Given the description of an element on the screen output the (x, y) to click on. 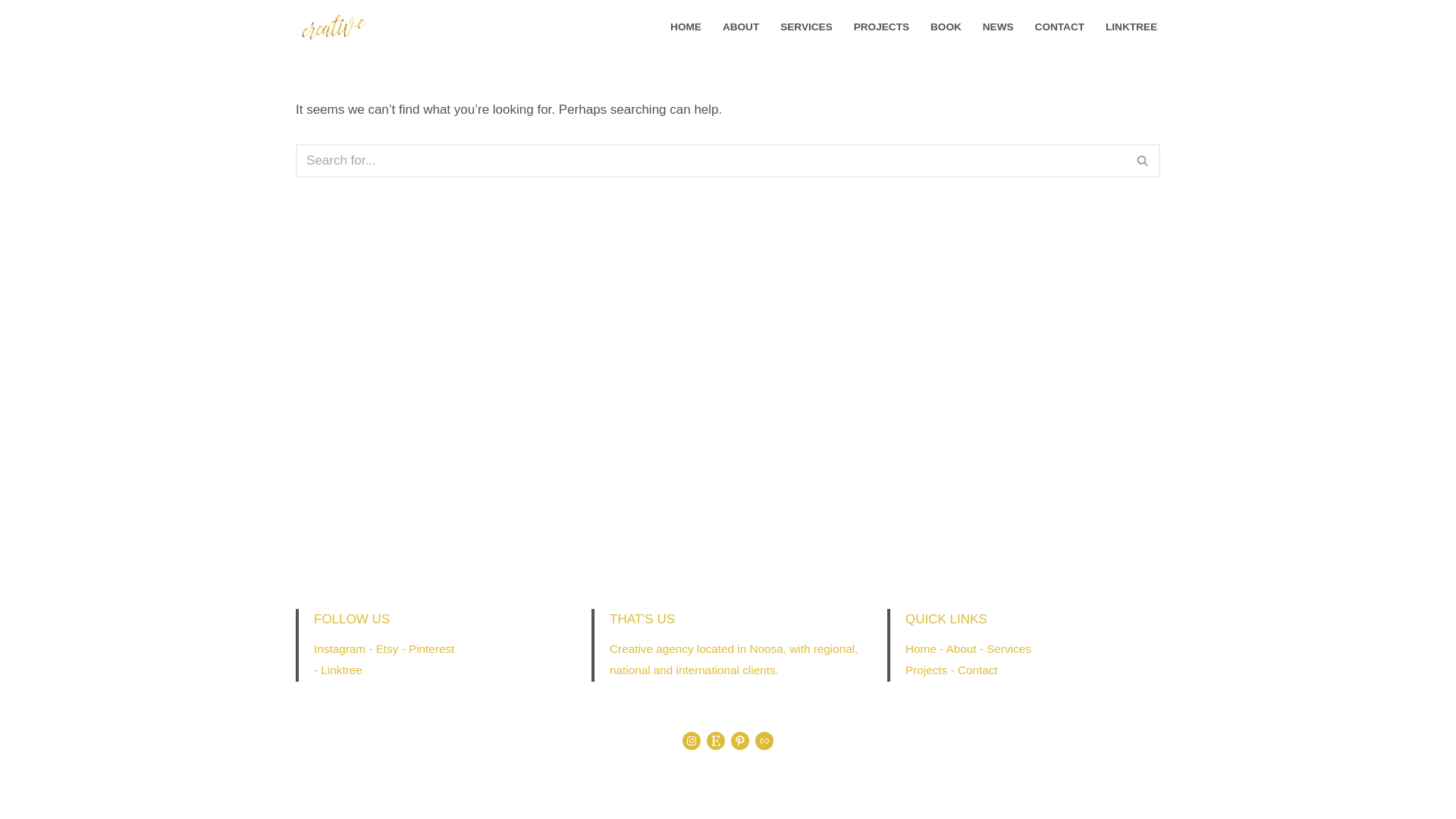
ABOUT Element type: text (740, 26)
BOOK Element type: text (945, 26)
WordPress Element type: text (439, 797)
About Element type: text (961, 648)
Skip to content Element type: text (11, 31)
SERVICES Element type: text (806, 26)
Instagram Element type: text (339, 648)
Projects Element type: text (926, 669)
CONTACT Element type: text (1059, 26)
Home Element type: text (920, 648)
Etsy Element type: text (387, 648)
Privacy Policy Element type: text (1024, 736)
PROJECTS Element type: text (881, 26)
Contact Element type: text (977, 669)
Pinterest Element type: text (431, 648)
Linktree Element type: text (340, 669)
Services Element type: text (1008, 648)
HOME Element type: text (685, 26)
LINKTREE Element type: text (1131, 26)
NEWS Element type: text (997, 26)
Neve Element type: text (310, 797)
